Given the description of an element on the screen output the (x, y) to click on. 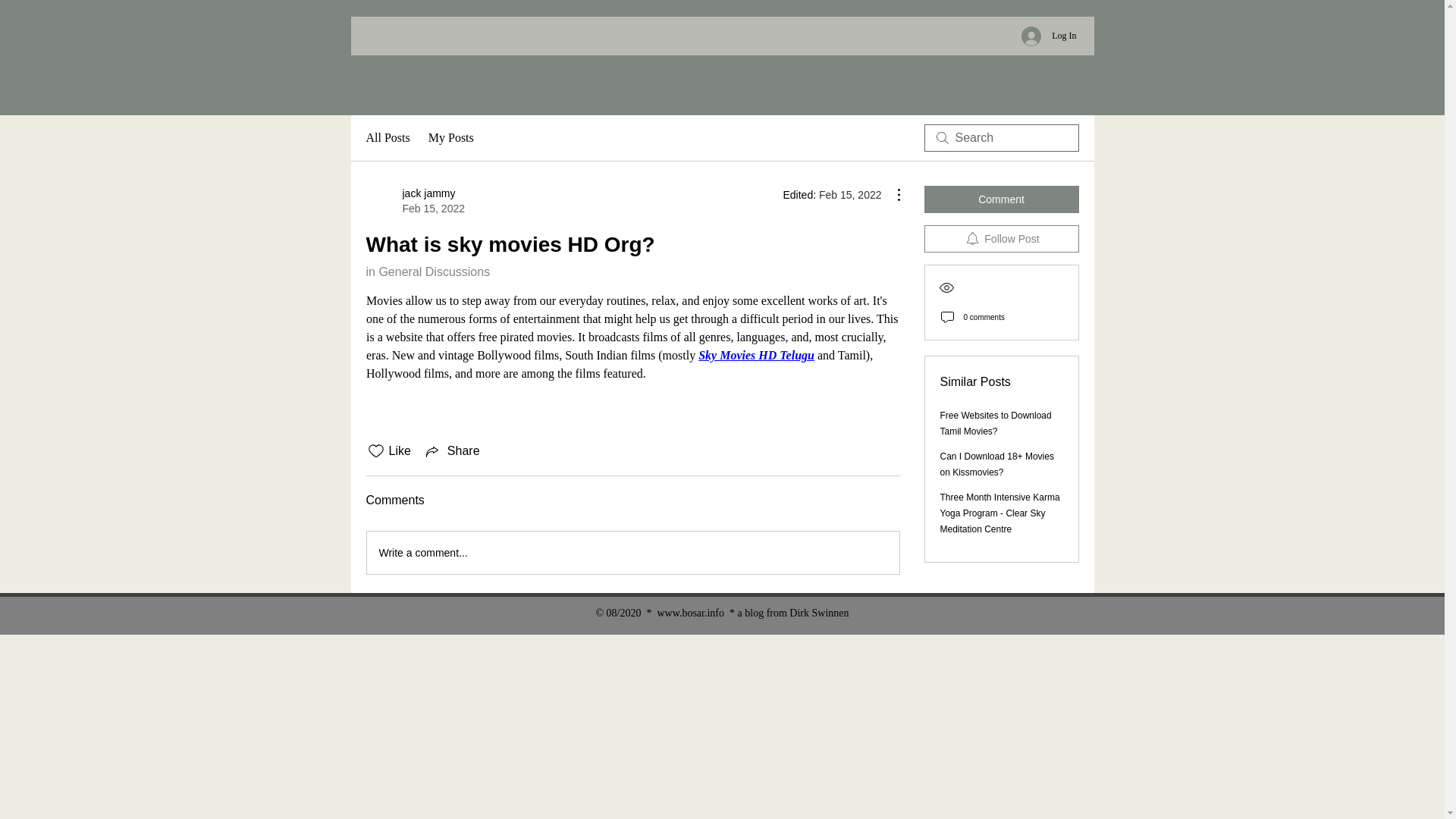
Share (451, 451)
All Posts (387, 137)
Comment (1000, 198)
Write a comment... (632, 552)
Free Websites to Download Tamil Movies? (995, 423)
Sky Movies HD Telugu (414, 200)
Log In (755, 354)
My Posts (1048, 35)
in General Discussions (451, 137)
Follow Post (427, 271)
www.bosar.info (1000, 238)
